Given the description of an element on the screen output the (x, y) to click on. 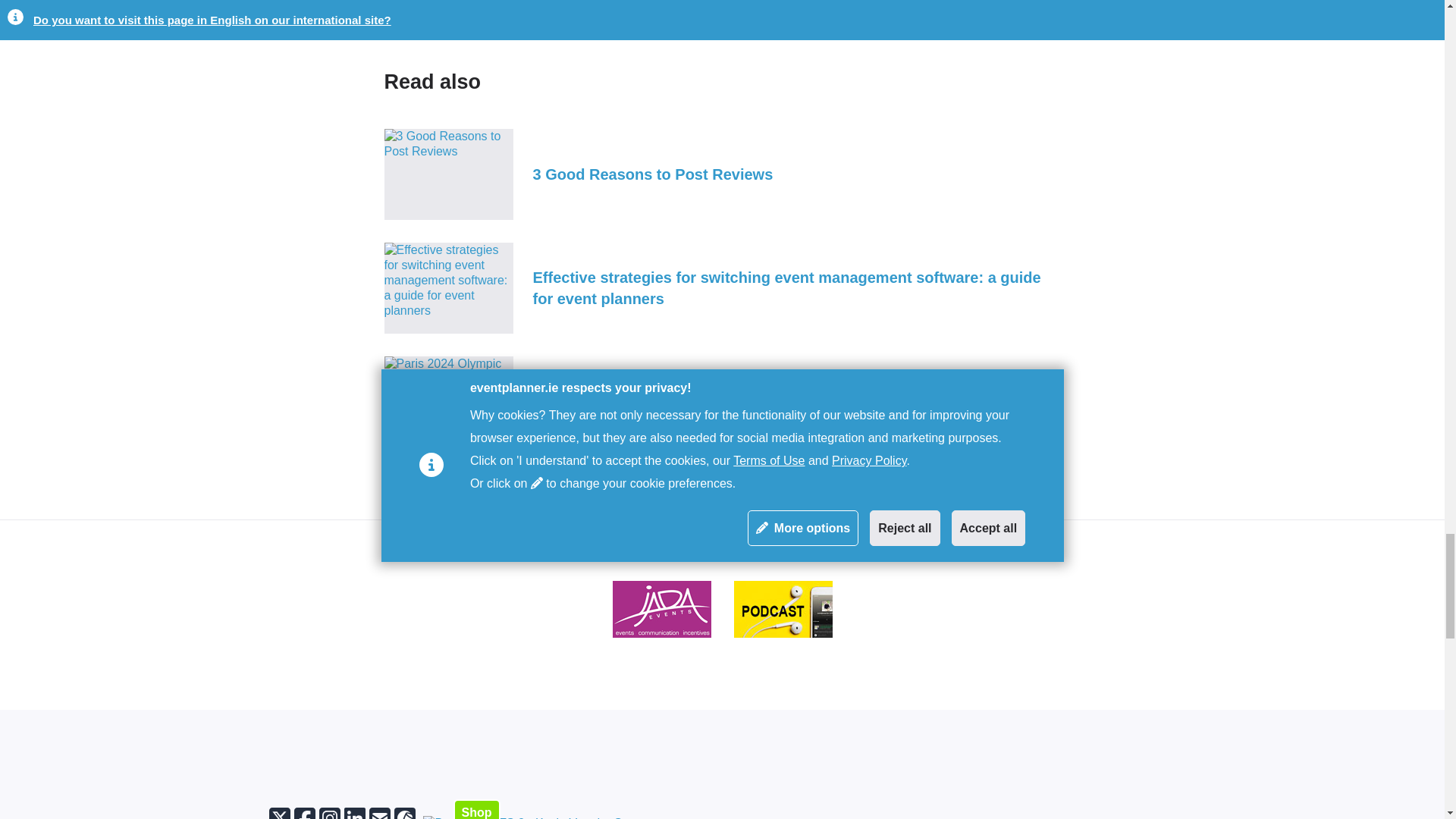
3 Good Reasons to Post Reviews (721, 173)
